Given the description of an element on the screen output the (x, y) to click on. 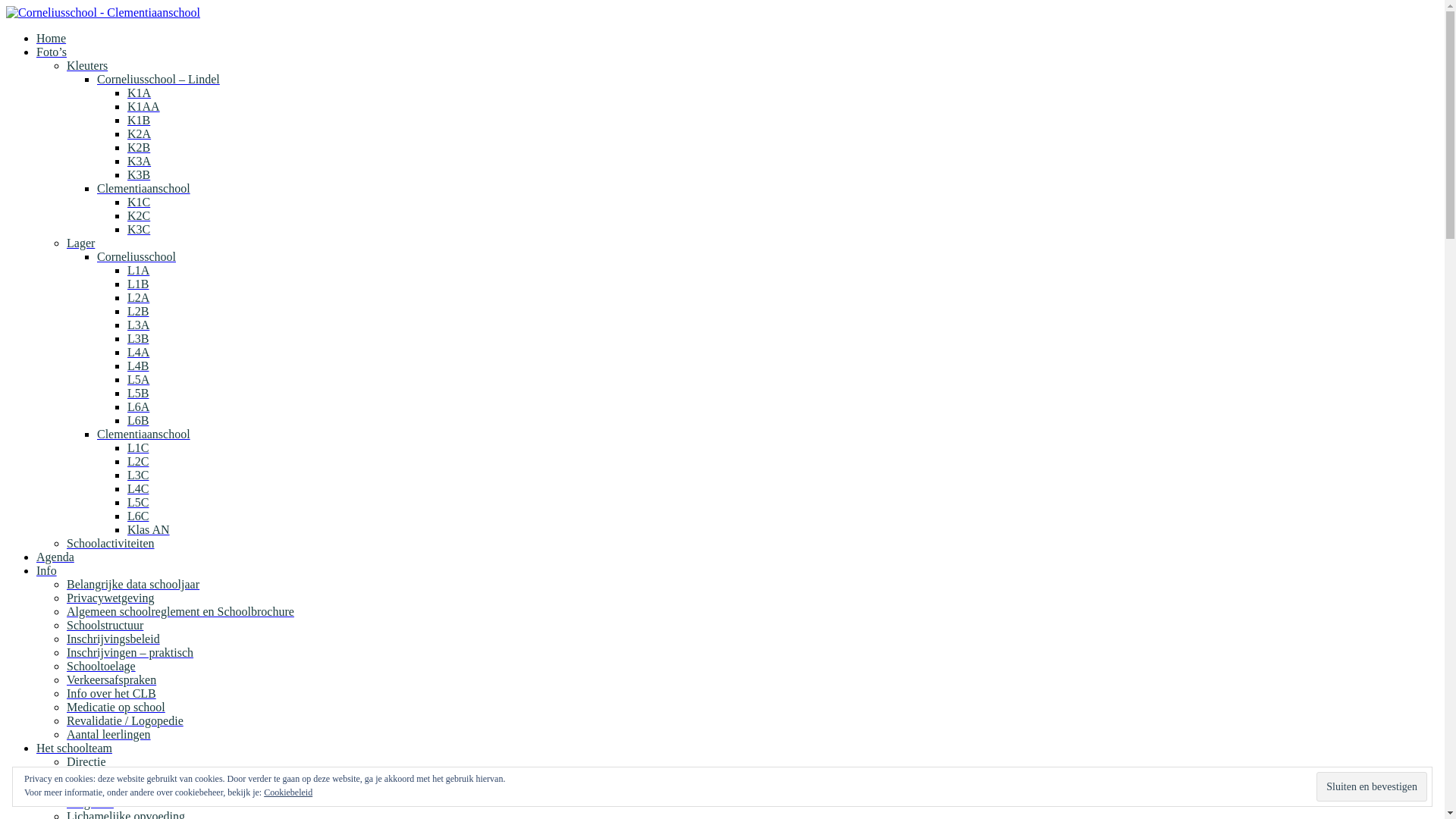
Schoolactiviteiten Element type: text (110, 542)
L4B Element type: text (137, 365)
Inschrijvingsbeleid Element type: text (113, 638)
Leerkrachtenteam Element type: text (109, 788)
Revalidatie / Logopedie Element type: text (124, 720)
L2C Element type: text (137, 461)
Clementiaanschool Element type: text (143, 433)
L1B Element type: text (137, 283)
L2A Element type: text (138, 297)
Medicatie op school Element type: text (115, 706)
Directie Element type: text (86, 761)
K3C Element type: text (138, 228)
Kleuters Element type: text (86, 65)
Info Element type: text (46, 570)
Schooltoelage Element type: text (100, 665)
L4C Element type: text (137, 488)
Het schoolteam Element type: text (74, 747)
Secretariaat en ondersteuning Element type: text (138, 774)
Corneliusschool Element type: text (136, 256)
Aantal leerlingen Element type: text (108, 734)
Agenda Element type: text (55, 556)
Clementiaanschool Element type: text (143, 188)
Home Element type: text (50, 37)
Schoolstructuur Element type: text (104, 624)
K2B Element type: text (138, 147)
K3A Element type: text (138, 160)
Klas AN Element type: text (148, 529)
L1A Element type: text (138, 269)
L4A Element type: text (138, 351)
L5C Element type: text (137, 501)
L5A Element type: text (138, 379)
K1B Element type: text (138, 119)
Cookiebeleid Element type: text (287, 792)
L6A Element type: text (138, 406)
L5B Element type: text (137, 392)
K3B Element type: text (138, 174)
K2C Element type: text (138, 215)
Lager Element type: text (80, 242)
Info over het CLB Element type: text (111, 693)
Belangrijke data schooljaar Element type: text (132, 583)
L3A Element type: text (138, 324)
L3B Element type: text (137, 338)
L3C Element type: text (137, 474)
L6C Element type: text (137, 515)
K1C Element type: text (138, 201)
Sluiten en bevestigen Element type: text (1371, 786)
L2B Element type: text (137, 310)
Privacywetgeving Element type: text (110, 597)
Zorgteam Element type: text (89, 802)
K1AA Element type: text (143, 106)
L1C Element type: text (137, 447)
L6B Element type: text (137, 420)
K2A Element type: text (138, 133)
Verkeersafspraken Element type: text (111, 679)
Algemeen schoolreglement en Schoolbrochure Element type: text (180, 611)
K1A Element type: text (138, 92)
